Given the description of an element on the screen output the (x, y) to click on. 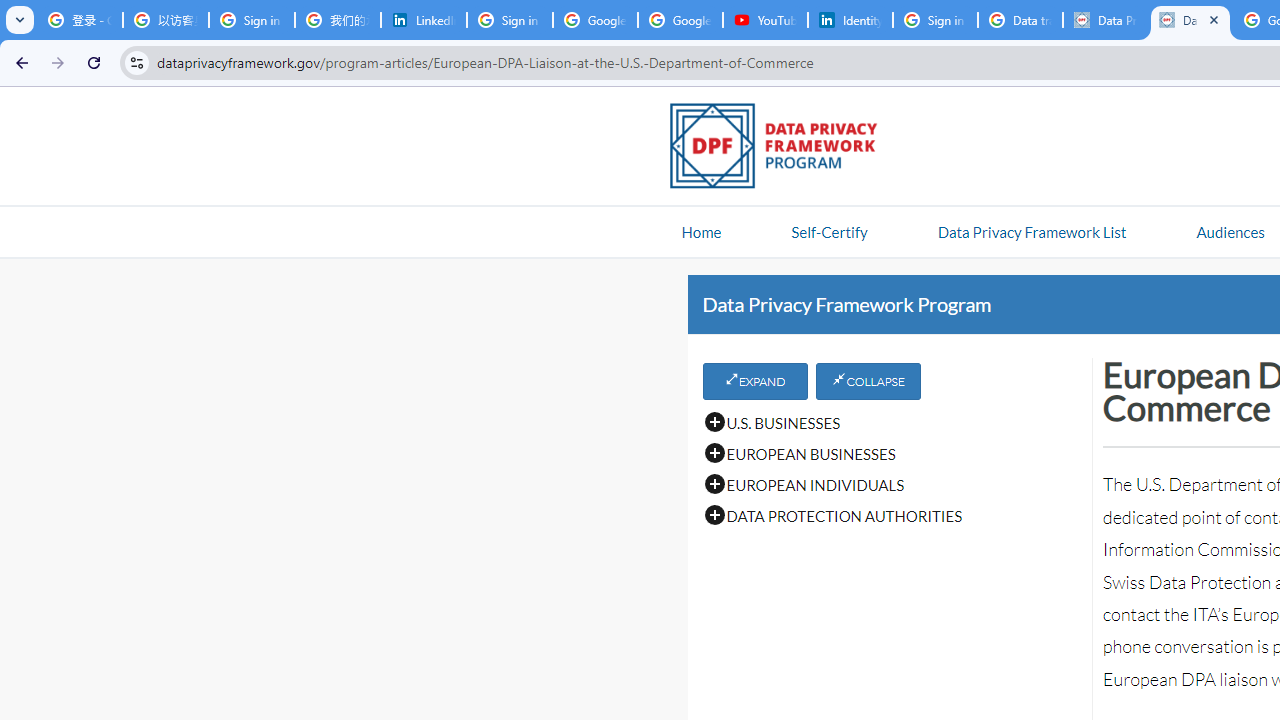
AutomationID: navitem (1230, 231)
Data Privacy Framework (1190, 20)
Data Privacy Framework (1105, 20)
Sign in - Google Accounts (251, 20)
Data Privacy Framework Logo - Link to Homepage (783, 149)
Sign in - Google Accounts (509, 20)
